Given the description of an element on the screen output the (x, y) to click on. 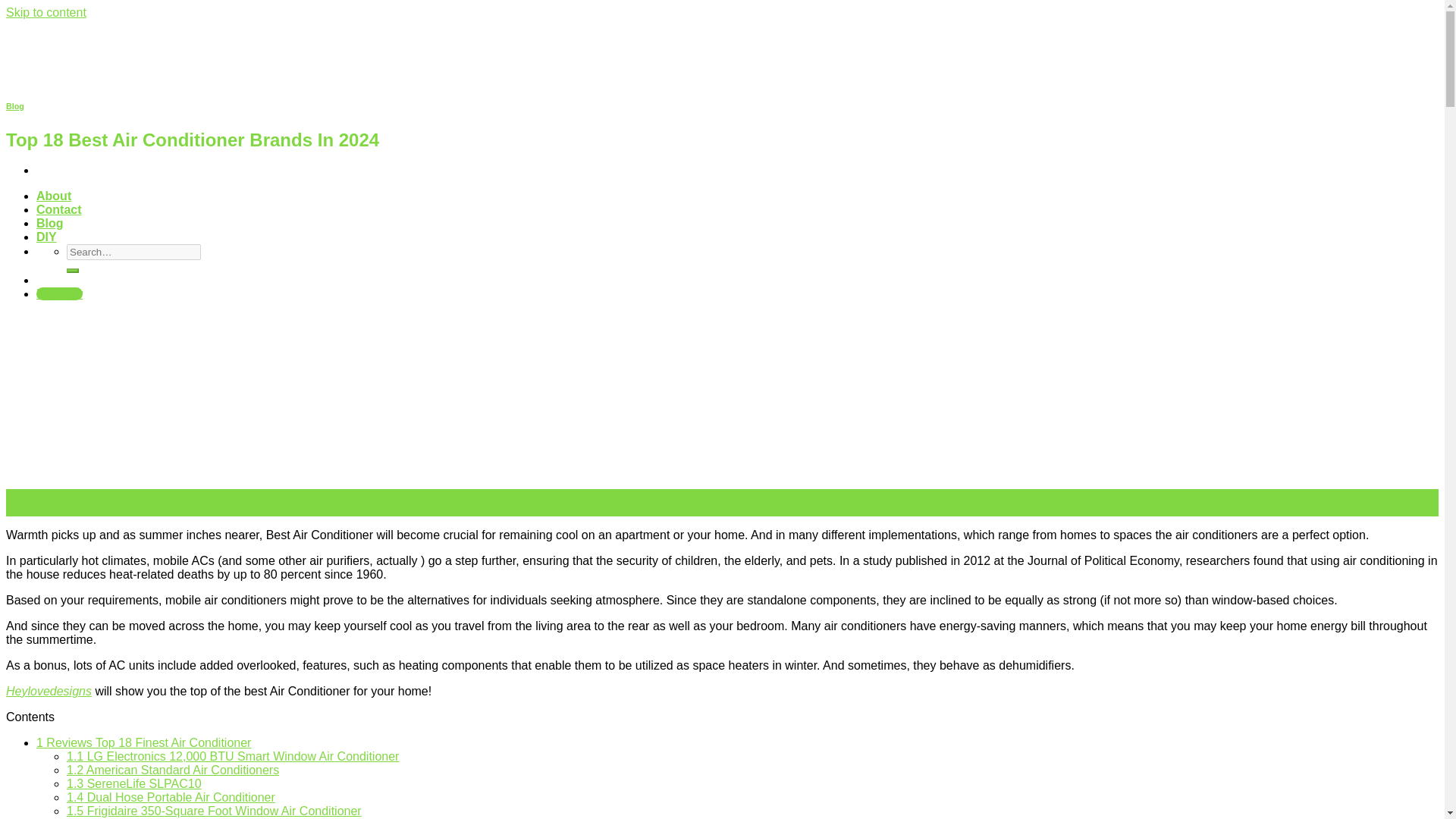
Skip to content (45, 11)
1 Reviews Top 18 Finest Air Conditioner (143, 742)
Blog (50, 223)
Buy now (59, 293)
Contact (58, 209)
1.5 Frigidaire 350-Square Foot Window Air Conditioner (213, 810)
About (53, 195)
Heylovedesigns (48, 690)
Blog (14, 105)
1.3 SereneLife SLPAC10 (134, 783)
1.2 American Standard Air Conditioners (172, 769)
DIY (46, 236)
1.4 Dual Hose Portable Air Conditioner (170, 797)
1.1 LG Electronics 12,000 BTU Smart Window Air Conditioner (232, 756)
